Given the description of an element on the screen output the (x, y) to click on. 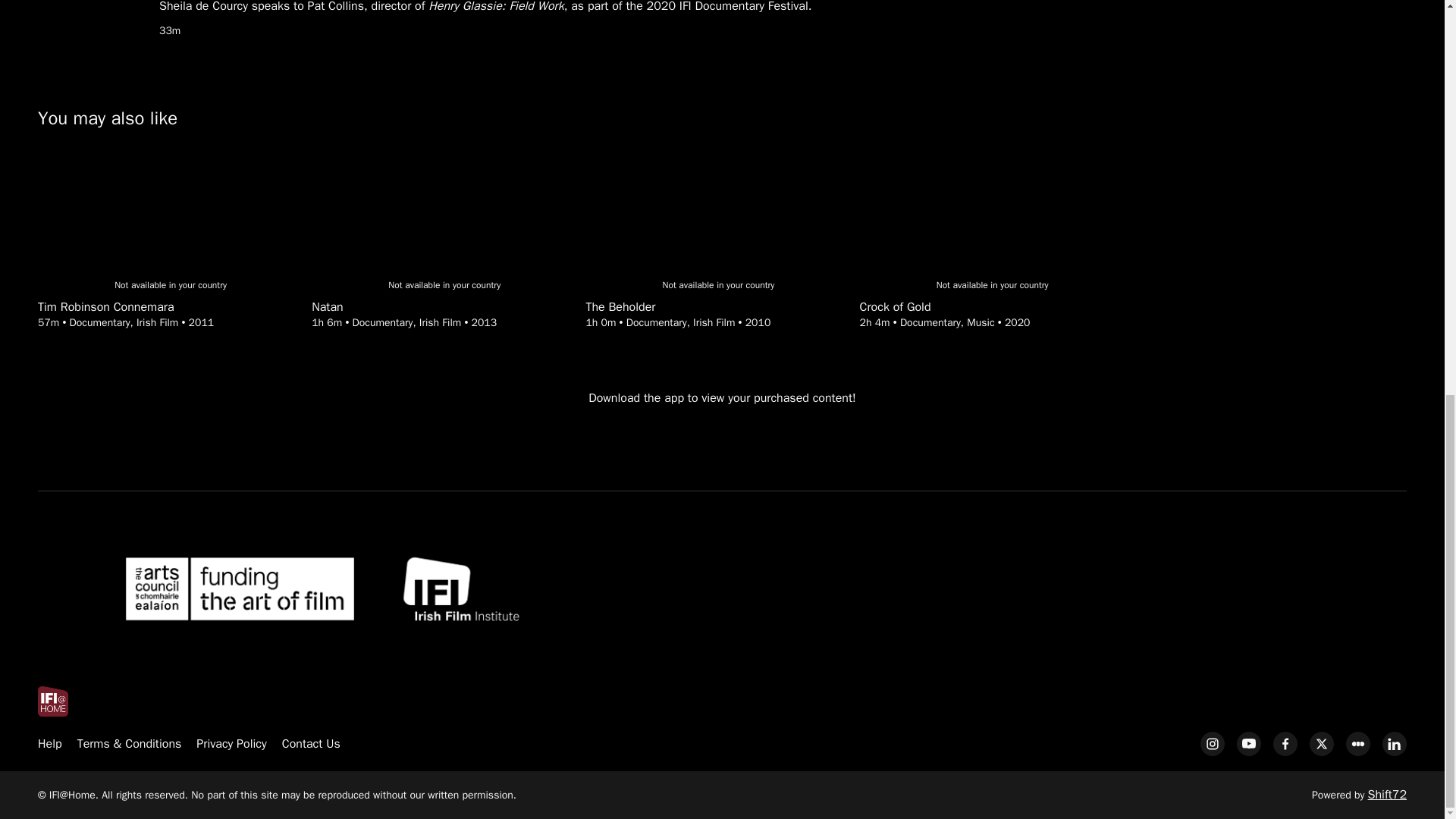
Visit us on Letterboxd (1357, 743)
Visit us on LinkedIn (1393, 743)
Tim Robinson Connemara (169, 307)
Visit us on Facebook (1284, 743)
The Beholder (717, 307)
Natan (443, 307)
Visit us on Twitter (1320, 743)
Visit us on Instagram (1211, 743)
Crock of Gold (992, 307)
Subscribe on Youtube (1248, 743)
